Given the description of an element on the screen output the (x, y) to click on. 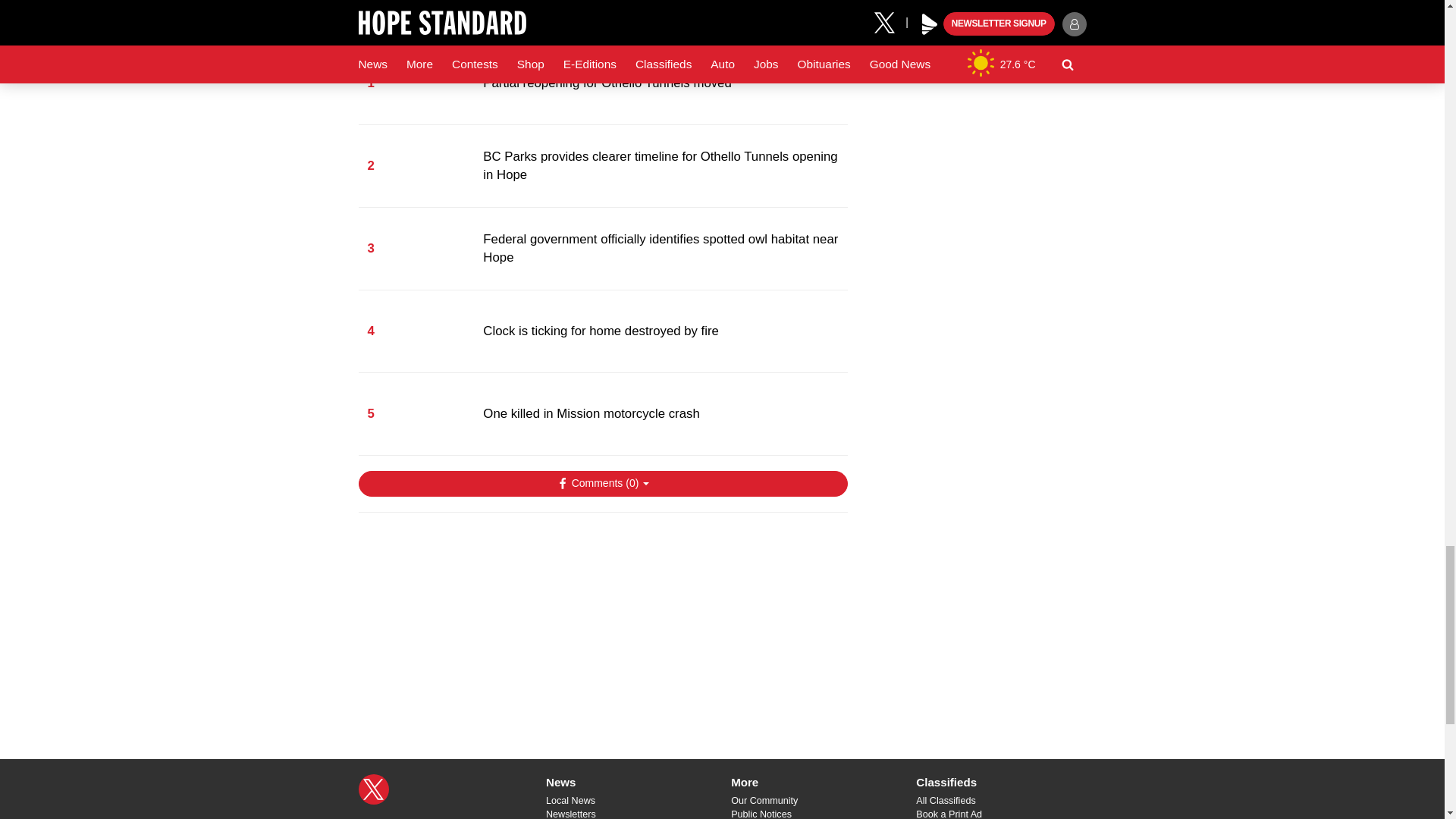
X (373, 788)
3rd party ad content (602, 622)
Show Comments (602, 483)
